Given the description of an element on the screen output the (x, y) to click on. 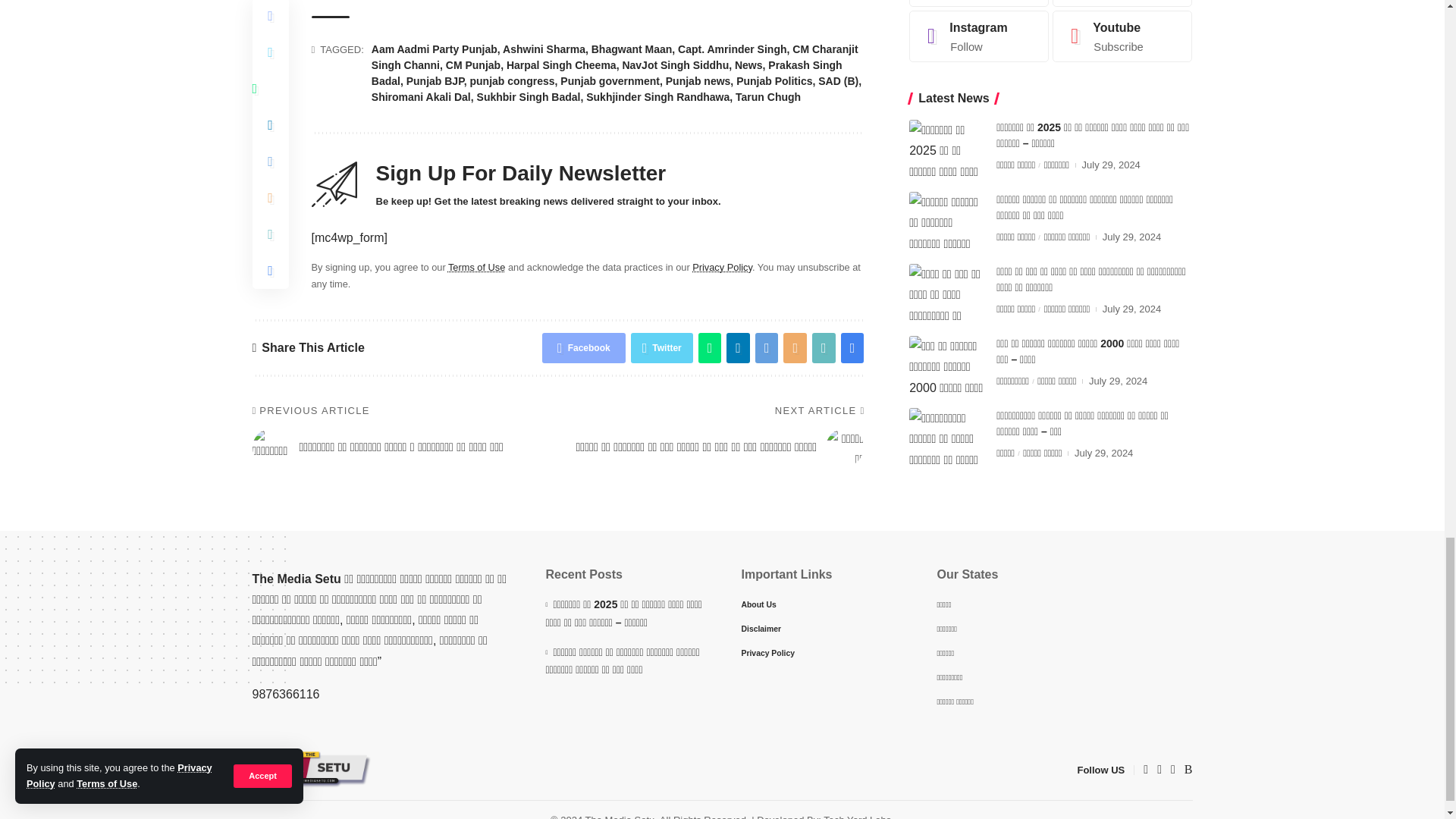
The Media Setu (311, 769)
